Given the description of an element on the screen output the (x, y) to click on. 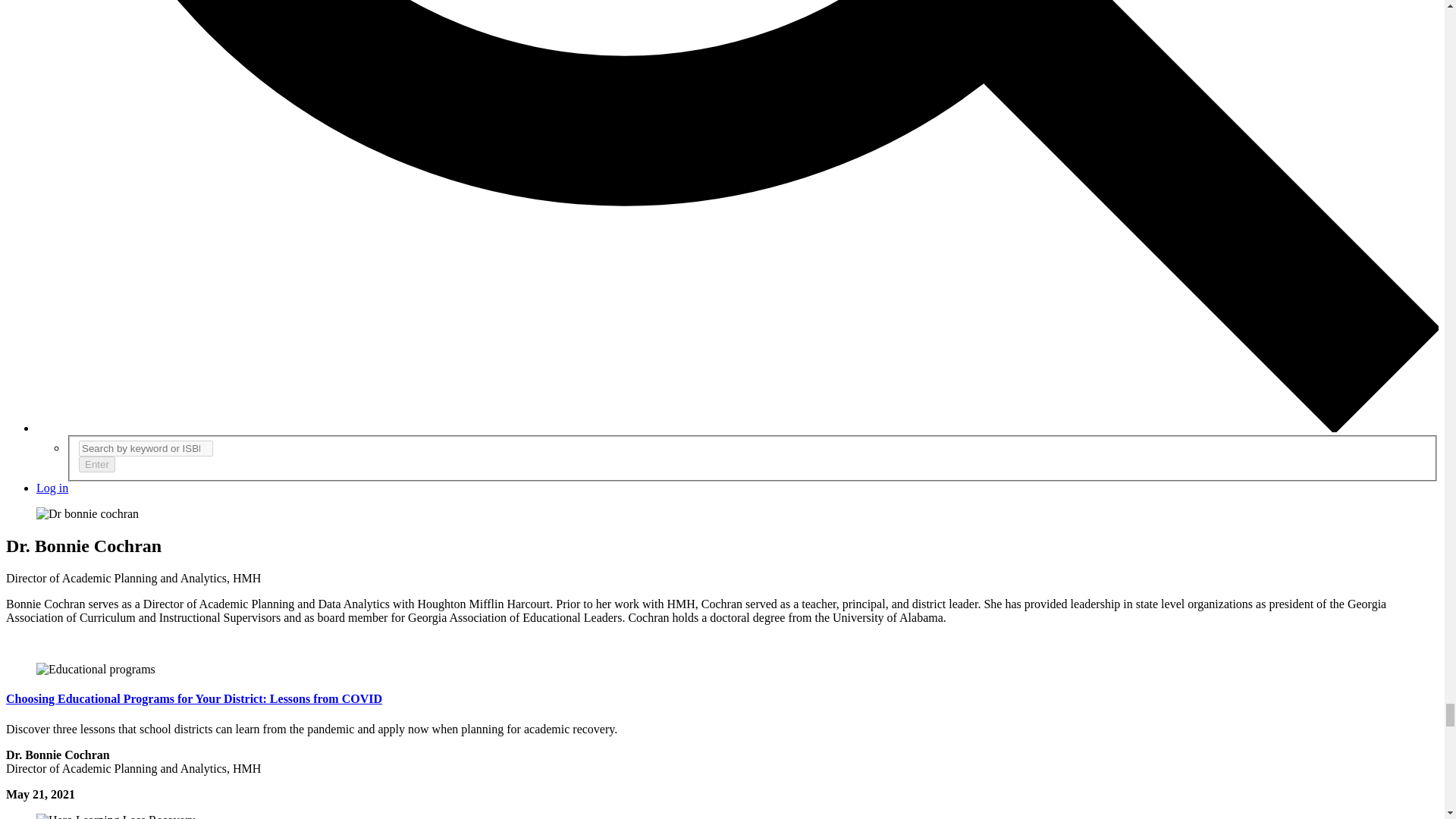
Enter (96, 464)
